Given the description of an element on the screen output the (x, y) to click on. 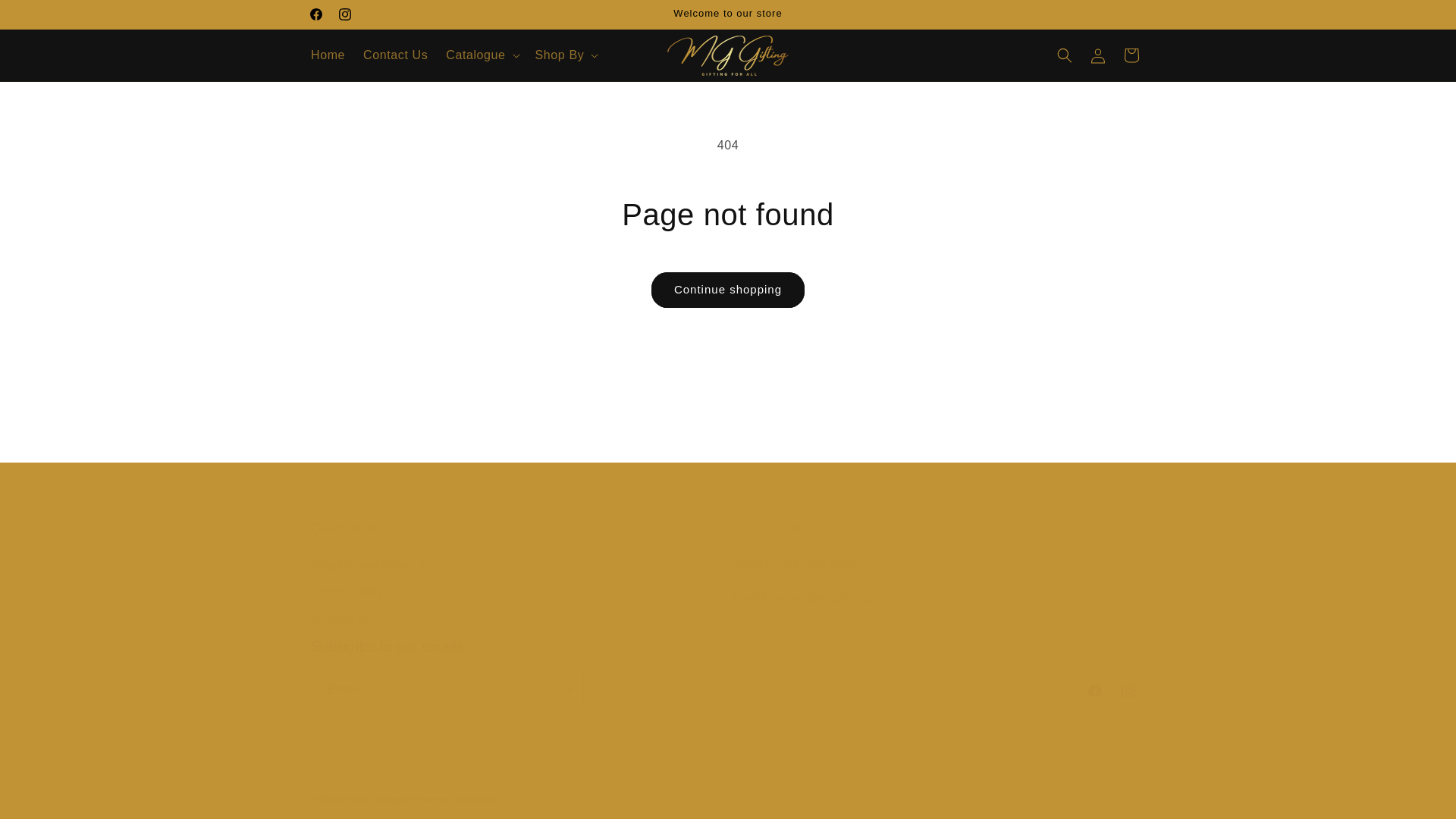
Home (327, 55)
Contact Us (394, 55)
Facebook (727, 672)
Skip to content (315, 14)
Instagram (45, 17)
